Given the description of an element on the screen output the (x, y) to click on. 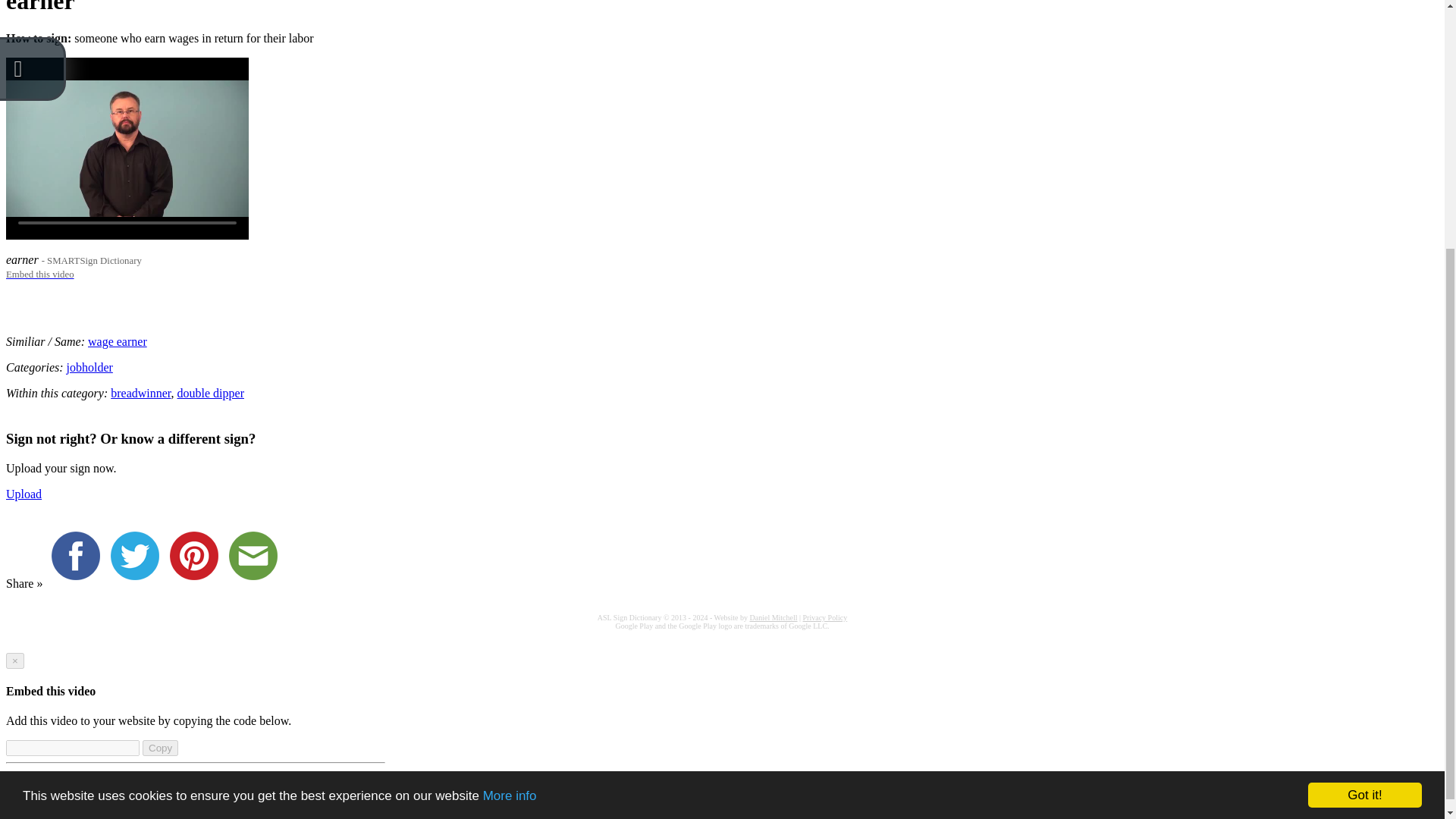
Privacy Policy (825, 617)
Pininterest (197, 583)
Copy (159, 747)
jobholder (89, 367)
Email (256, 583)
Copy to Clipboard (159, 747)
breadwinner (140, 392)
Facebook (78, 583)
Daniel Mitchell (772, 617)
Upload (23, 493)
wage earner (117, 341)
Embed this video (39, 273)
double dipper (210, 392)
Twitter (138, 583)
Embed this video (39, 273)
